Given the description of an element on the screen output the (x, y) to click on. 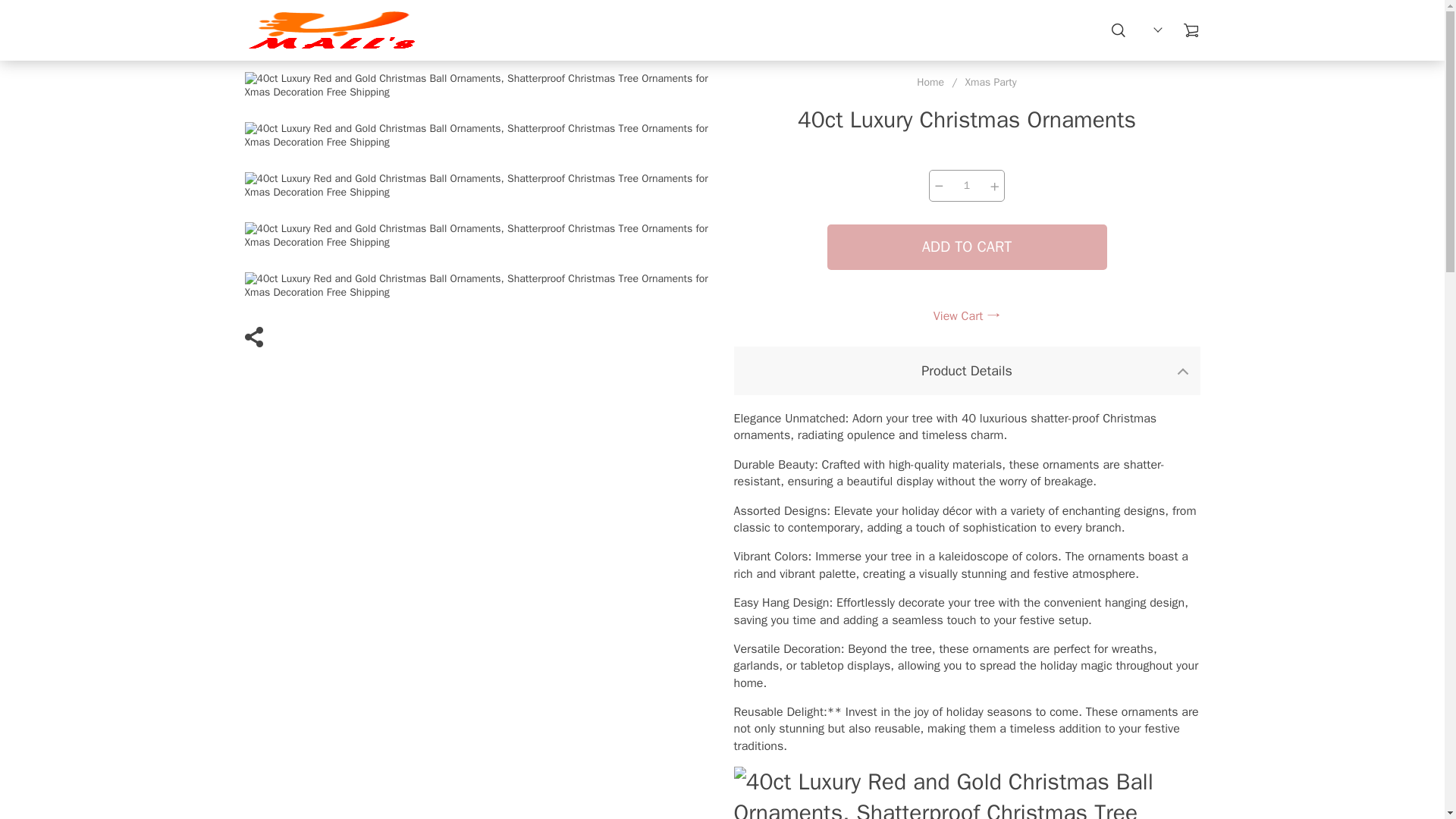
1 (966, 185)
